Given the description of an element on the screen output the (x, y) to click on. 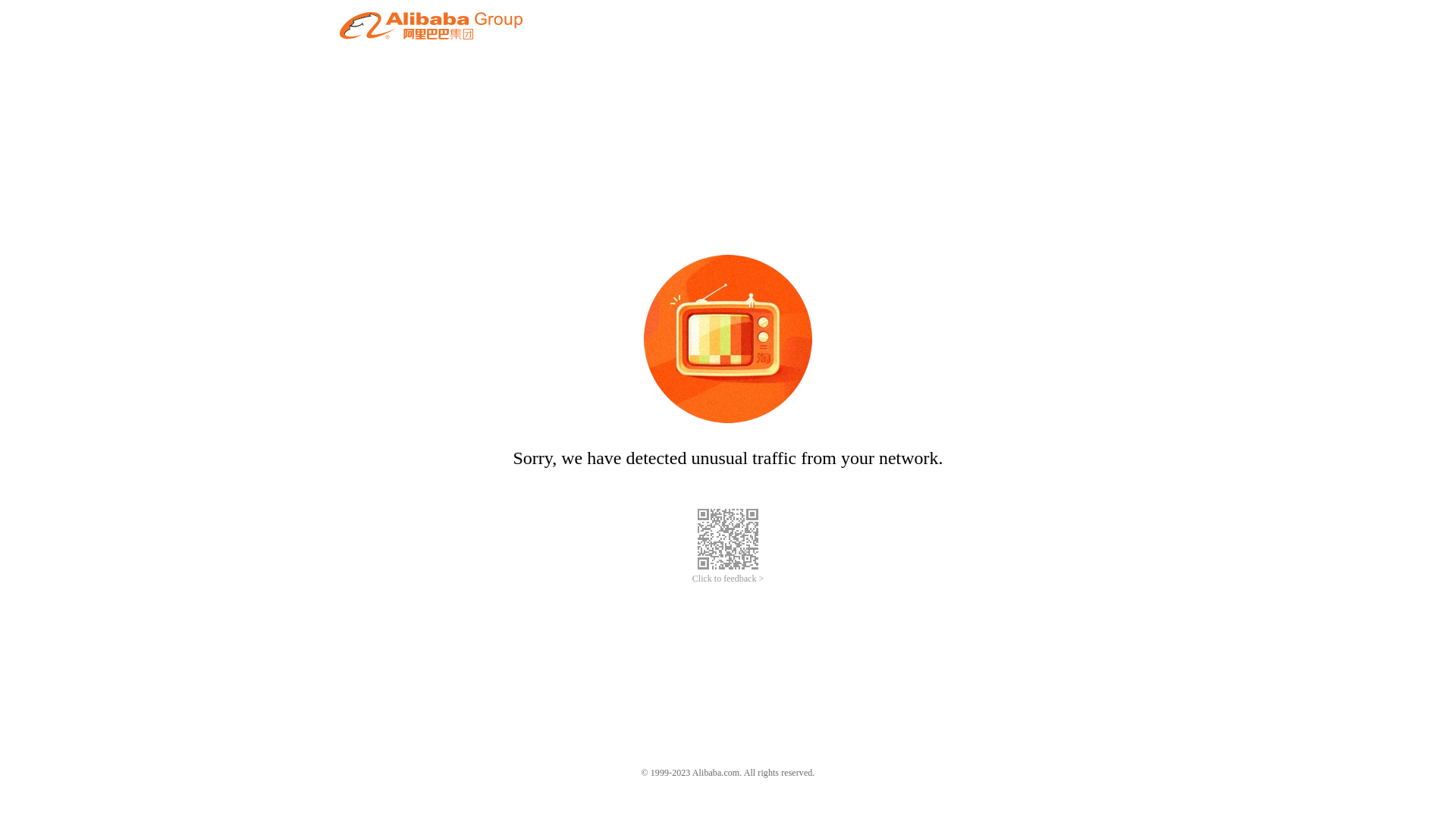
Click to feedback > Element type: text (727, 578)
